Given the description of an element on the screen output the (x, y) to click on. 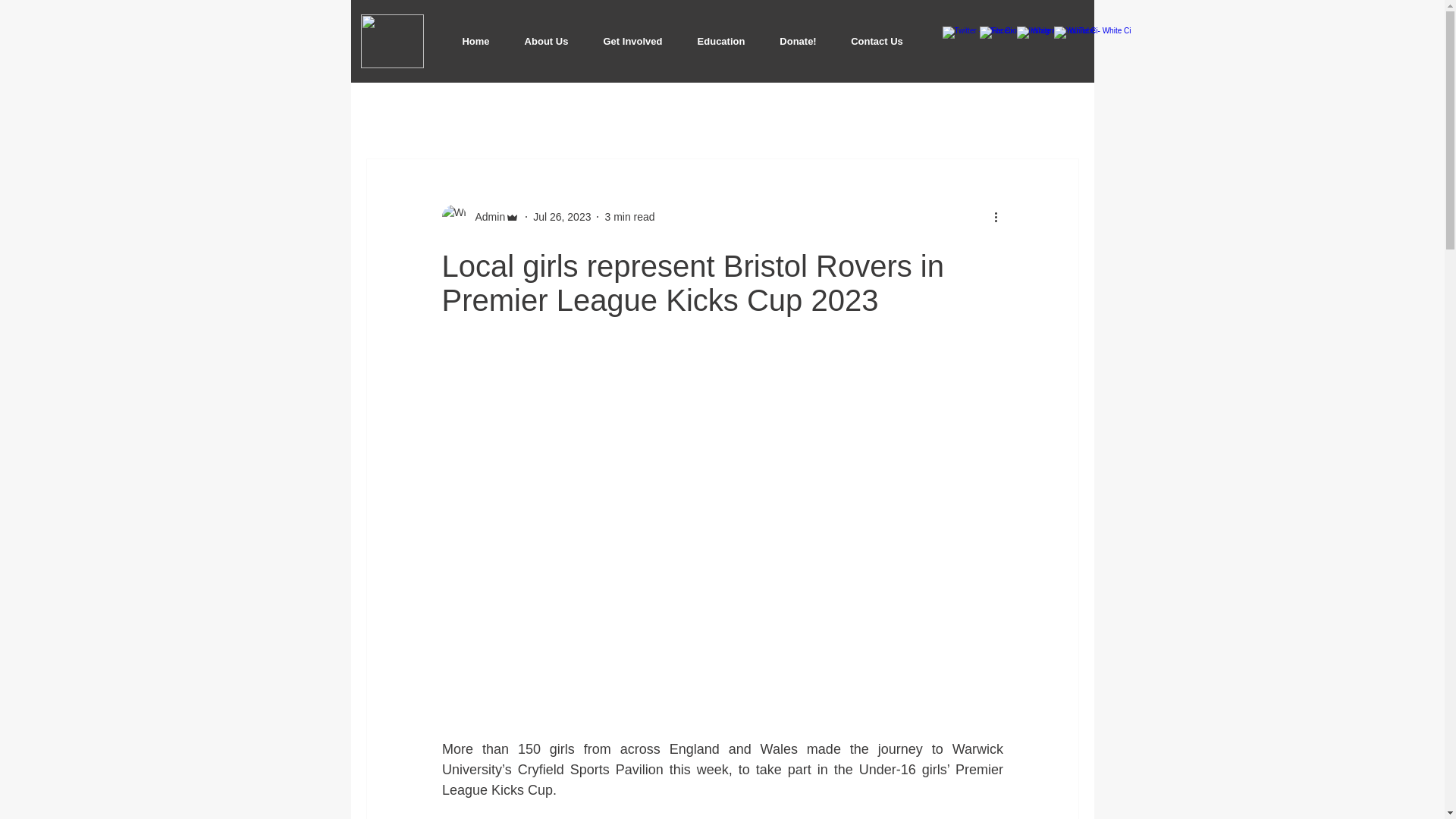
Get Involved (632, 41)
Admin (485, 217)
Home (475, 41)
Jul 26, 2023 (561, 216)
Contact Us (877, 41)
3 min read (628, 216)
Donate! (798, 41)
About Us (545, 41)
Education (720, 41)
